Given the description of an element on the screen output the (x, y) to click on. 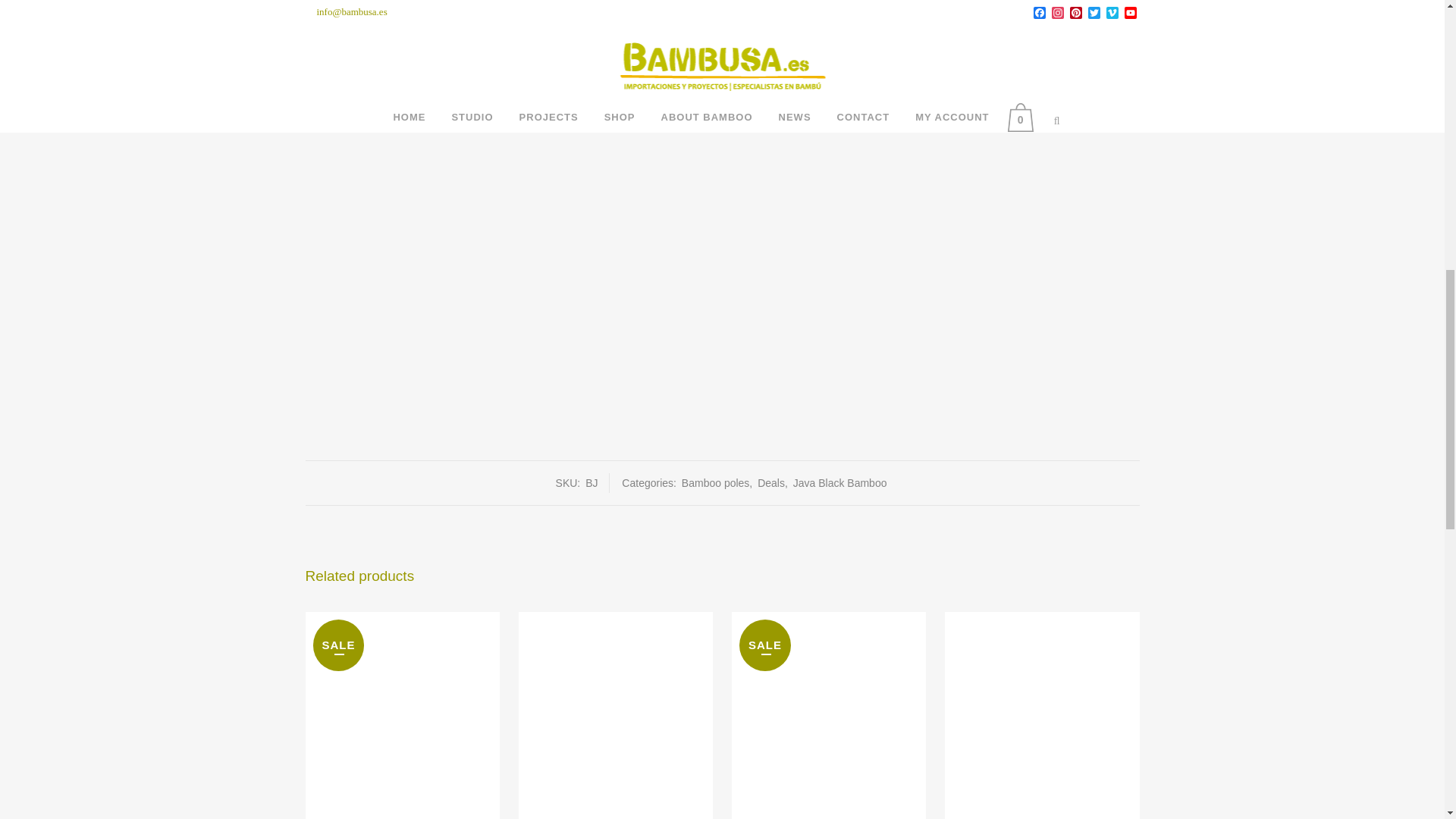
- (310, 16)
1 (332, 16)
